Given the description of an element on the screen output the (x, y) to click on. 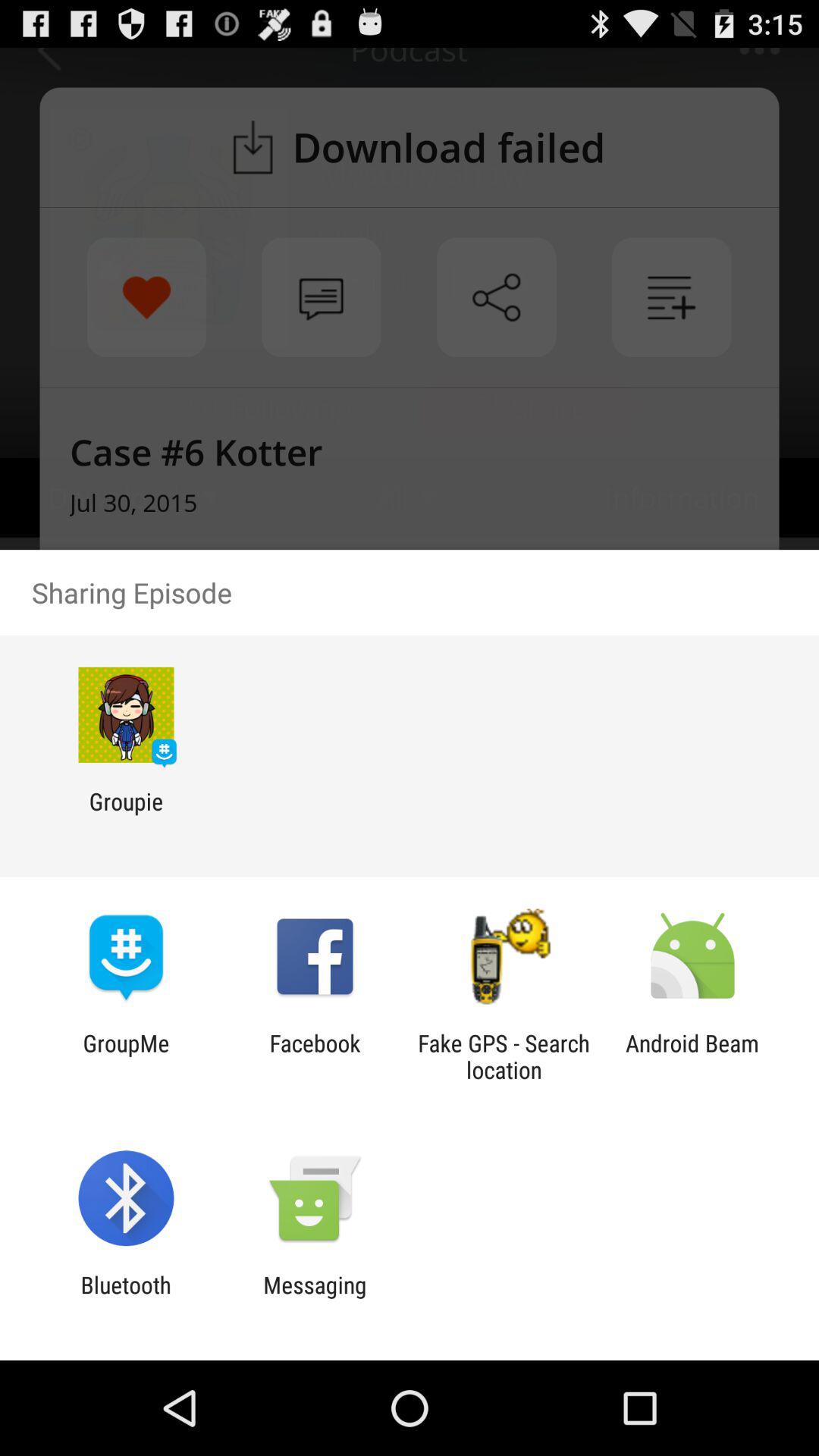
tap app at the bottom right corner (692, 1056)
